Given the description of an element on the screen output the (x, y) to click on. 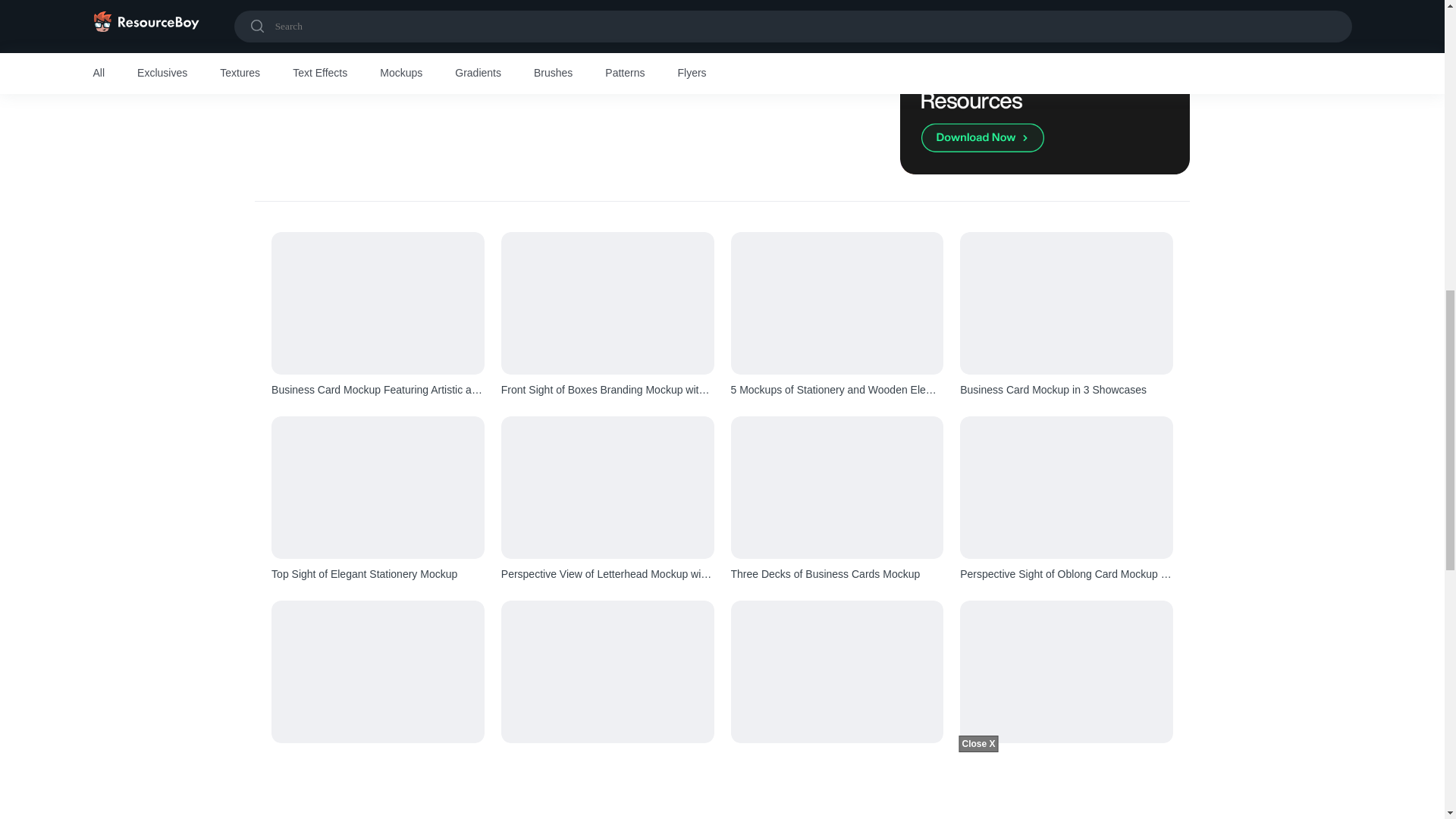
Front Sight of Boxes Branding Mockup with Business Card (607, 389)
Business Card Mockup Featuring Artistic and Rustic Setting (377, 389)
3rd party ad content (527, 79)
